Given the description of an element on the screen output the (x, y) to click on. 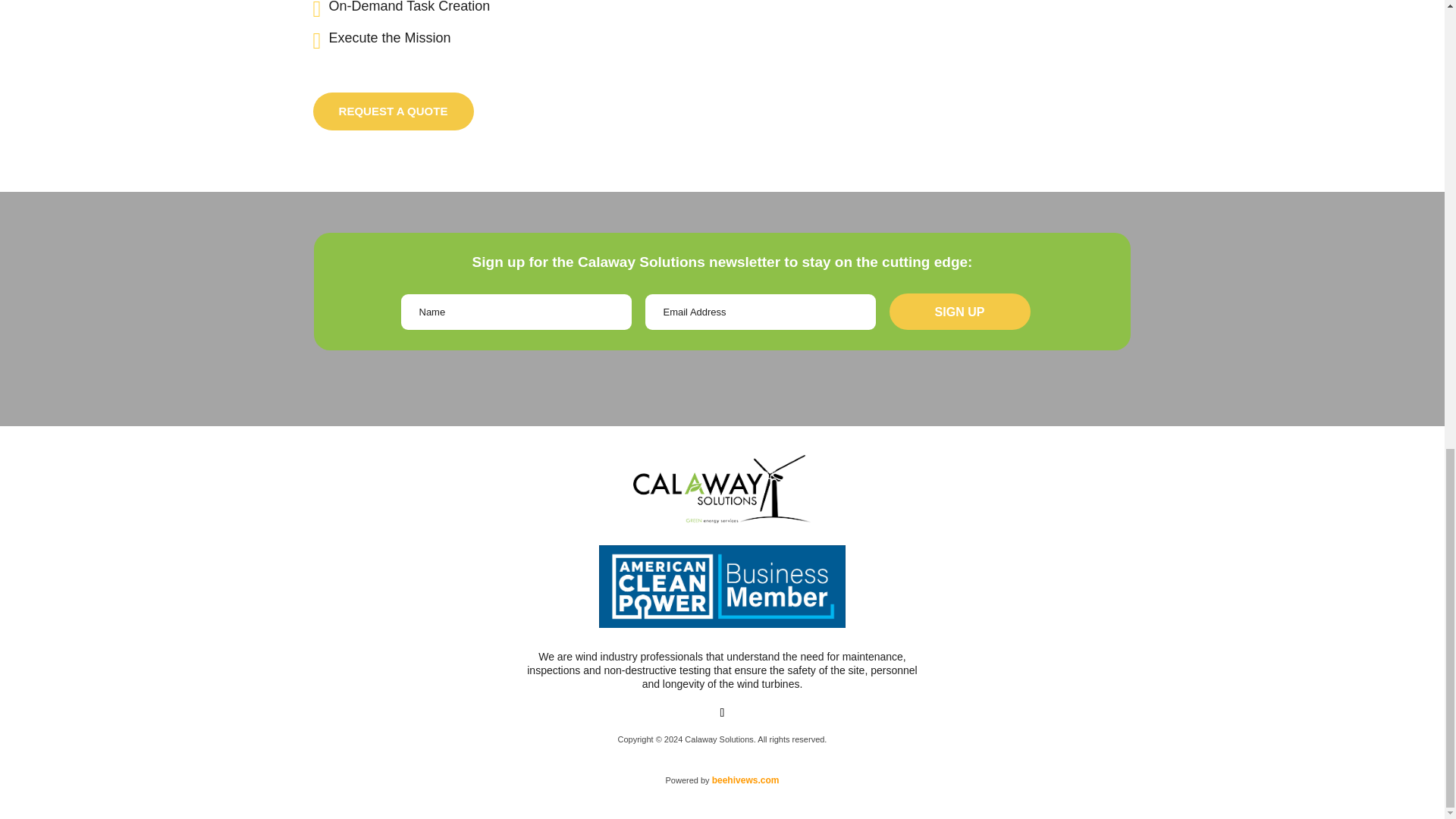
REQUEST A QUOTE (393, 111)
beehivews.com (744, 779)
Follow on LinkedIn (721, 712)
SIGN UP (958, 311)
footer-logo (721, 489)
WhatsApp Image 2023-04-27 at 1.21.17 PM (721, 586)
